Given the description of an element on the screen output the (x, y) to click on. 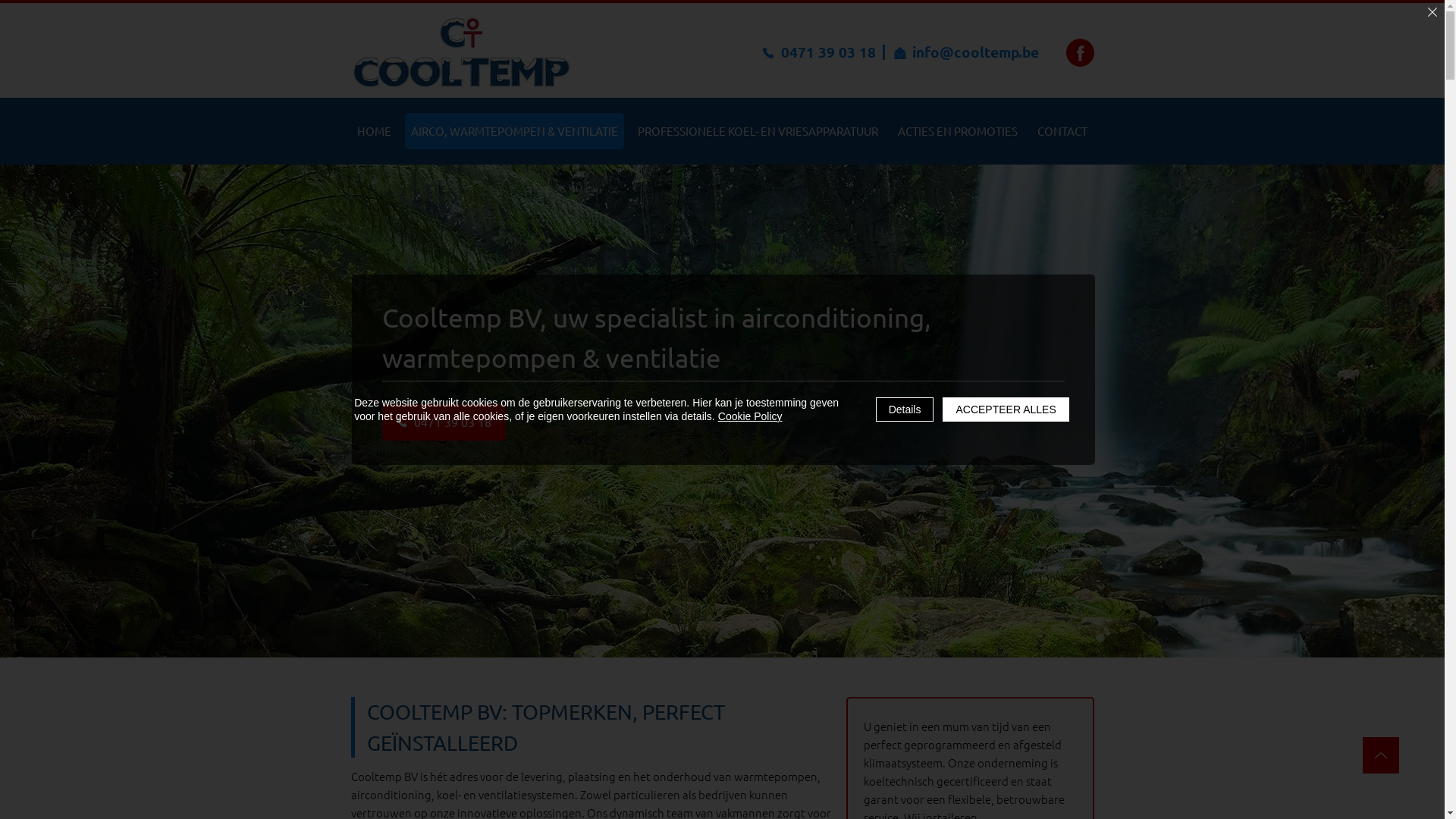
0471 39 03 18 Element type: text (443, 422)
Details Element type: text (904, 409)
CONTACT Element type: text (1062, 130)
Cooltemp BV Element type: hover (460, 52)
HOME Element type: text (373, 130)
PROFESSIONELE KOEL- EN VRIESAPPARATUUR Element type: text (756, 130)
ACCEPTEER ALLES Element type: text (1005, 409)
info@cooltemp.be Element type: text (966, 52)
0471 39 03 18 Element type: text (817, 52)
ACTIES EN PROMOTIES Element type: text (957, 130)
Cookie Policy Element type: text (750, 416)
AIRCO, WARMTEPOMPEN & VENTILATIE Element type: text (514, 130)
